Given the description of an element on the screen output the (x, y) to click on. 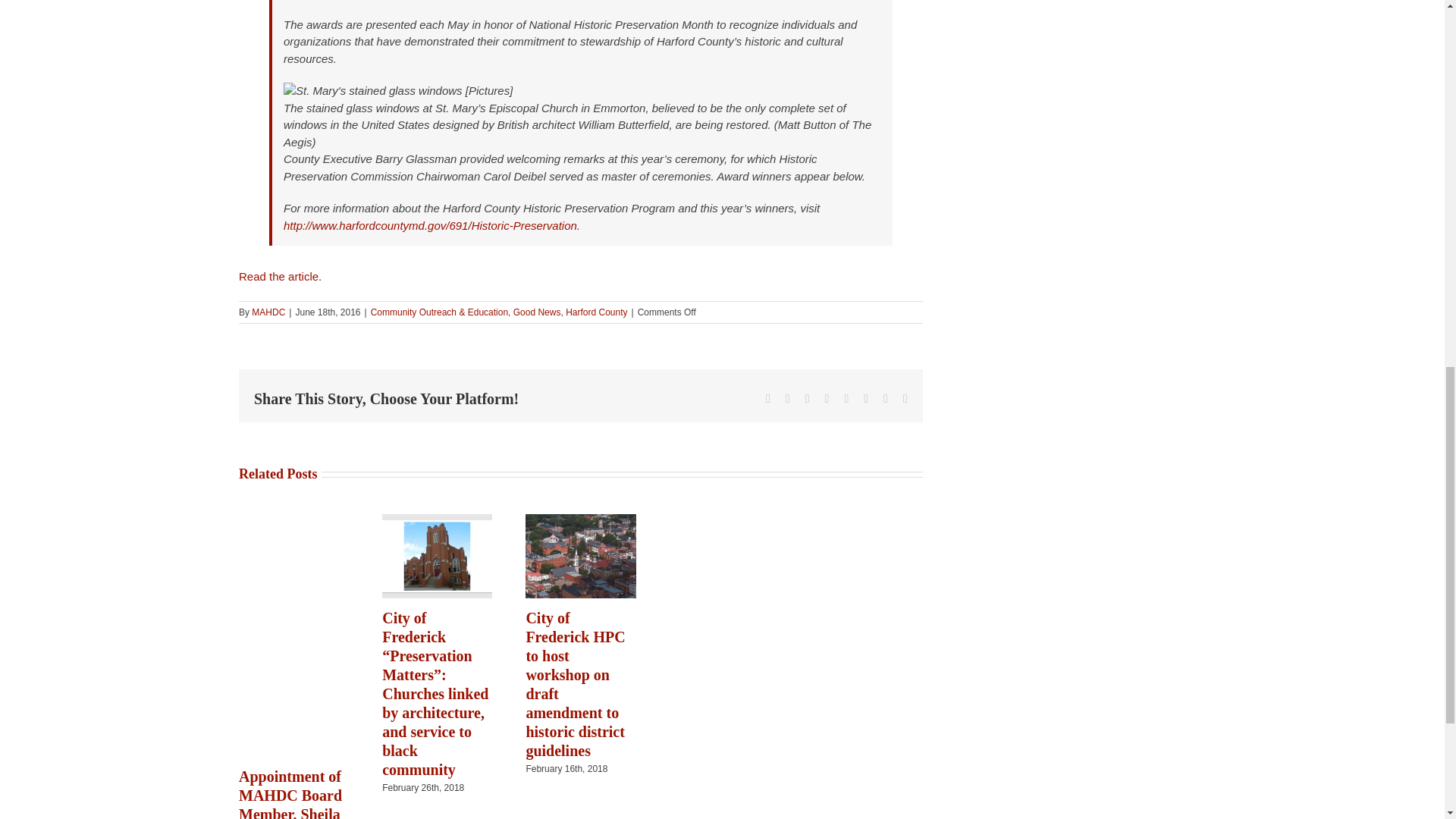
Read the article.  (281, 276)
MAHDC (268, 312)
Good News (536, 312)
Posts by MAHDC (268, 312)
Harford County (596, 312)
